Given the description of an element on the screen output the (x, y) to click on. 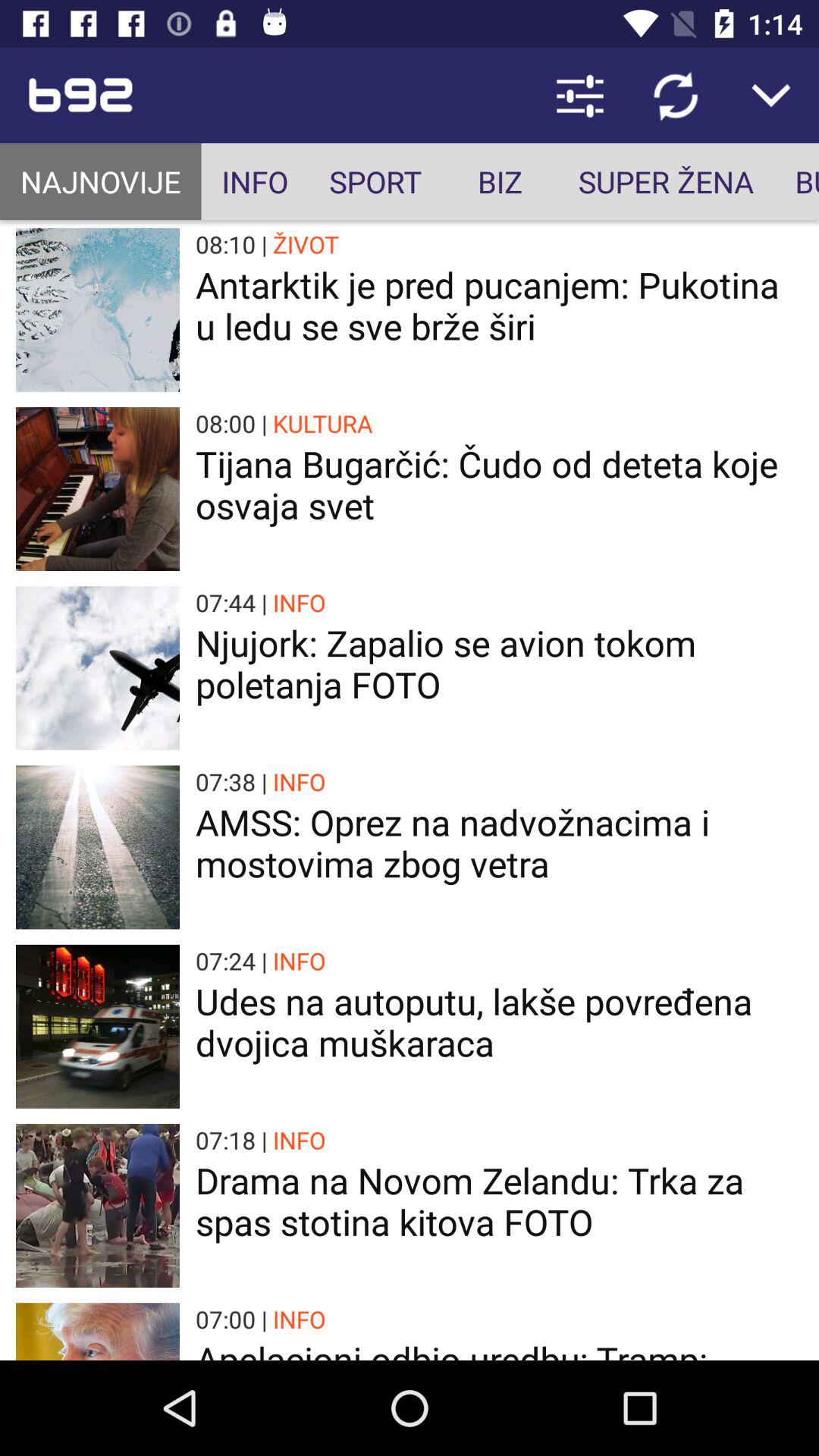
open the item above the 07:00 |  item (499, 1201)
